Given the description of an element on the screen output the (x, y) to click on. 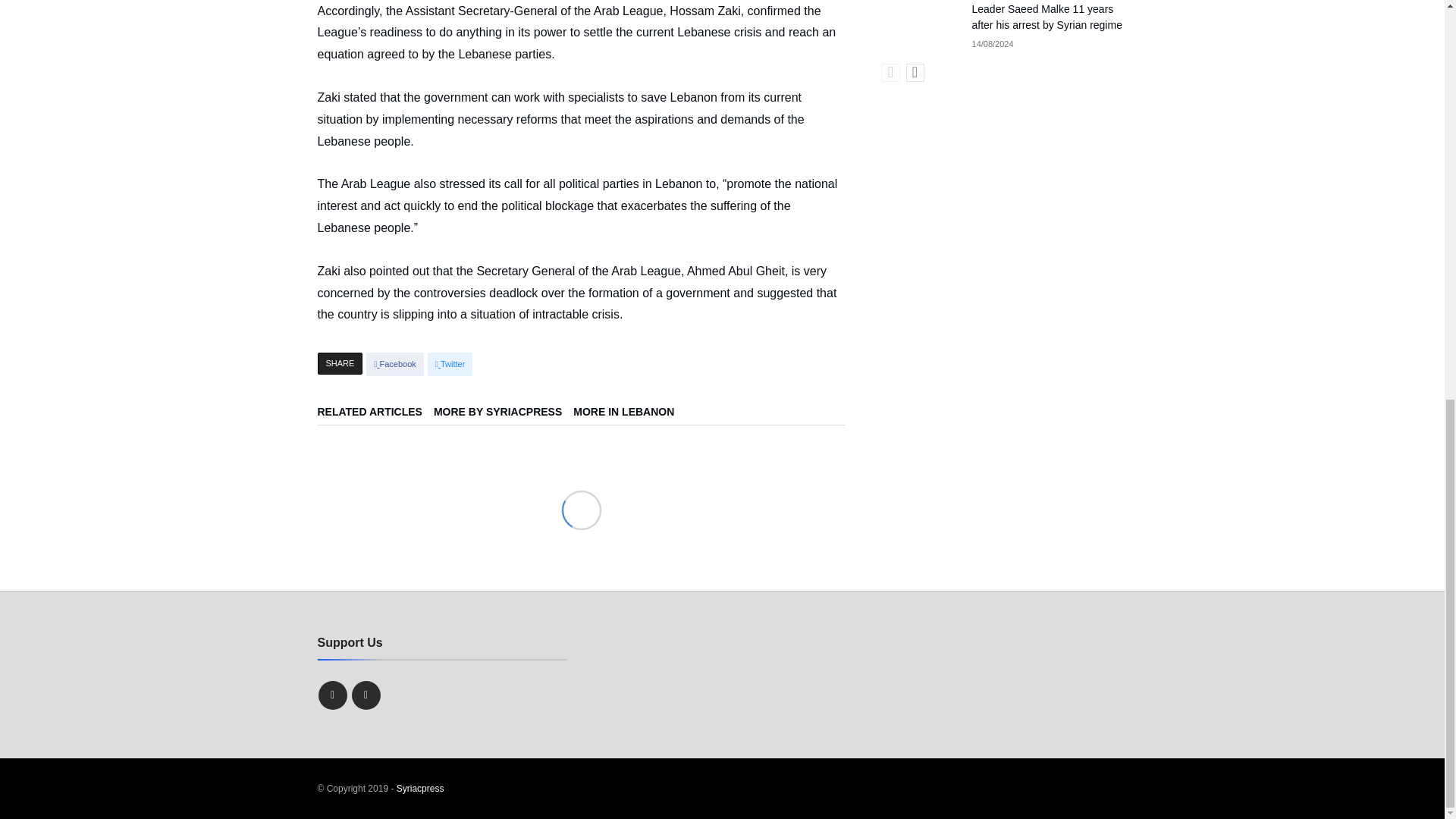
Facebook (394, 363)
MORE BY SYRIACPRESS (503, 415)
Twitter (450, 363)
twitter (450, 363)
MORE IN LEBANON (629, 415)
RELATED ARTICLES (374, 415)
facebook (394, 363)
